Given the description of an element on the screen output the (x, y) to click on. 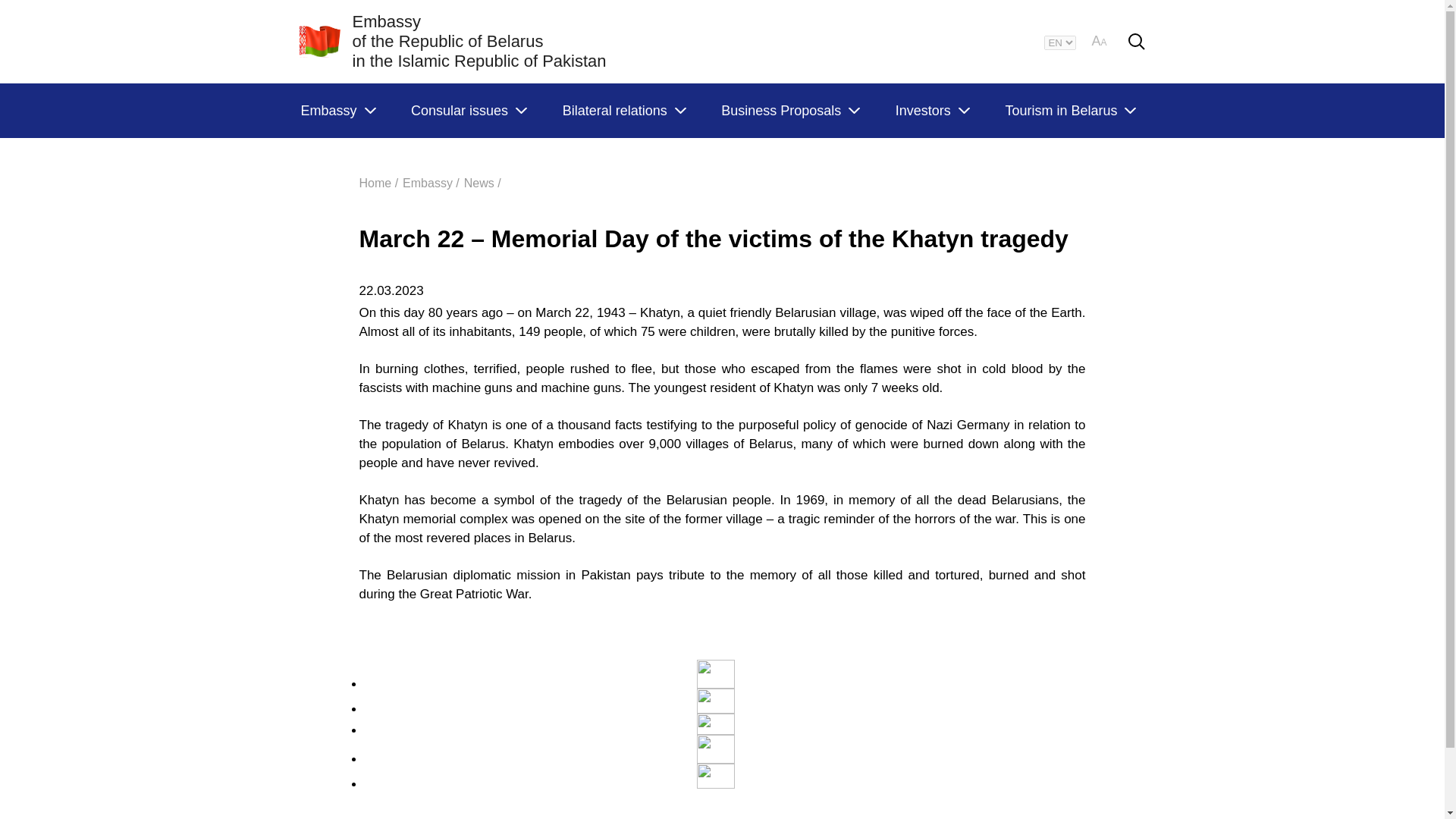
Embassy (336, 110)
Consular issues (467, 110)
Bilateral relations (623, 110)
